Given the description of an element on the screen output the (x, y) to click on. 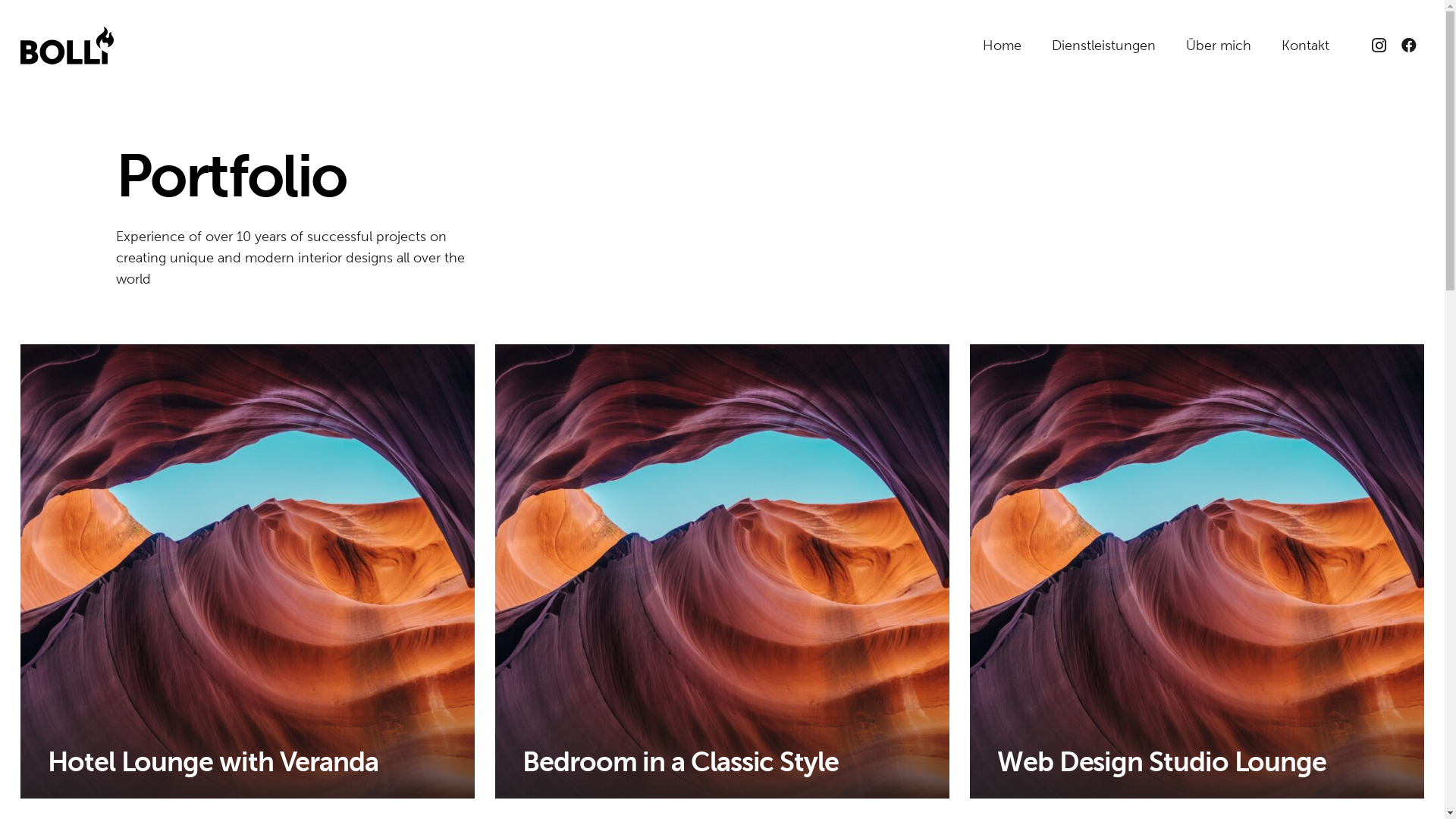
Via Creativa Element type: text (1149, 659)
Dienstleistungen Element type: text (481, 681)
Instagram Element type: hover (1378, 45)
Datenschutz Element type: text (782, 704)
Facebook Element type: text (773, 681)
Facebook Element type: hover (1408, 45)
Instagram Element type: text (773, 658)
Kontakt Element type: text (1305, 45)
Home Element type: text (1001, 45)
Home Element type: text (448, 658)
Dienstleistungen Element type: text (1103, 45)
Impressum Element type: text (777, 727)
Kontakt Element type: text (452, 727)
